Given the description of an element on the screen output the (x, y) to click on. 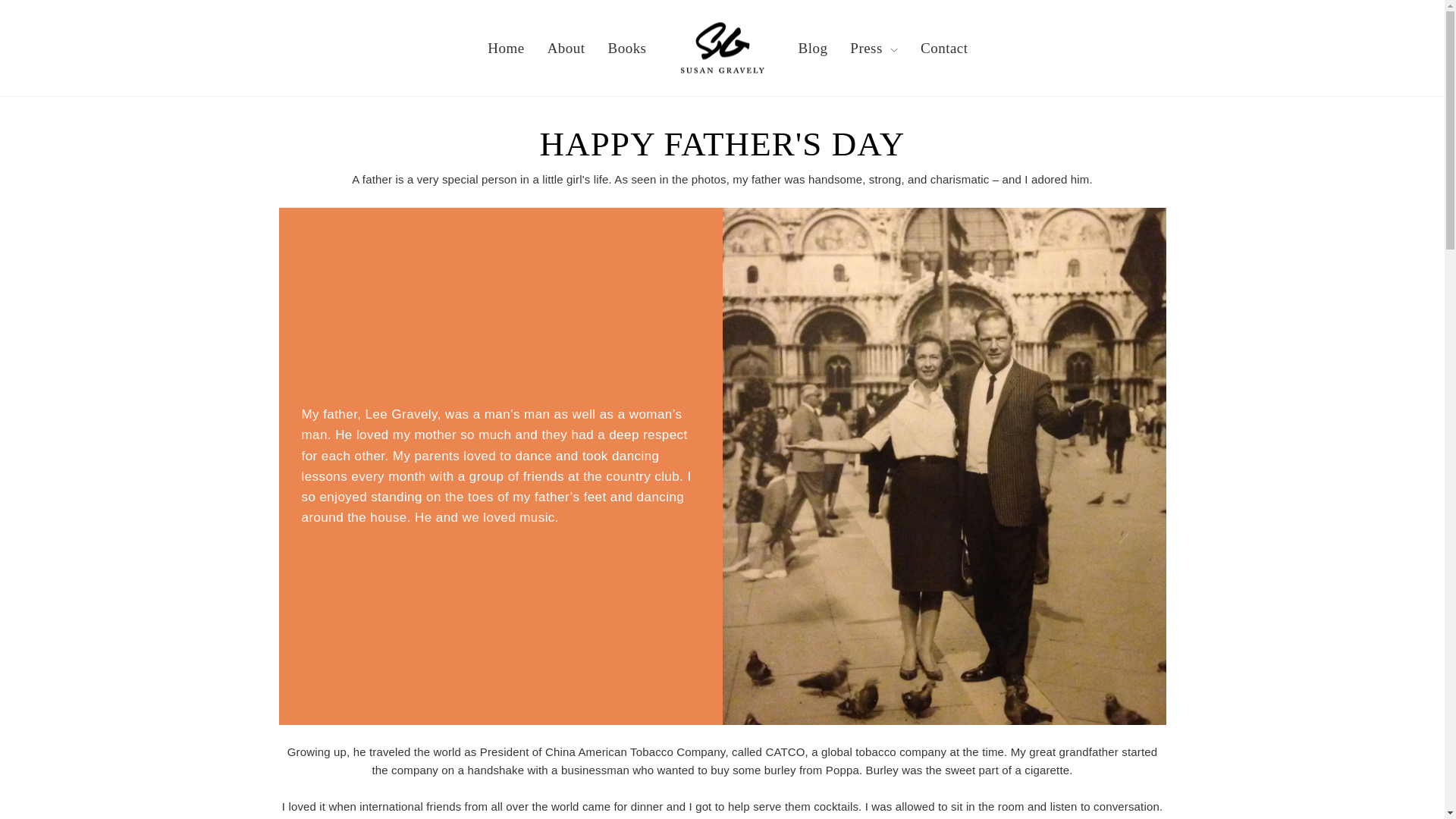
Blog (813, 47)
Contact (943, 47)
About (565, 47)
Books (627, 47)
Home (505, 47)
